Given the description of an element on the screen output the (x, y) to click on. 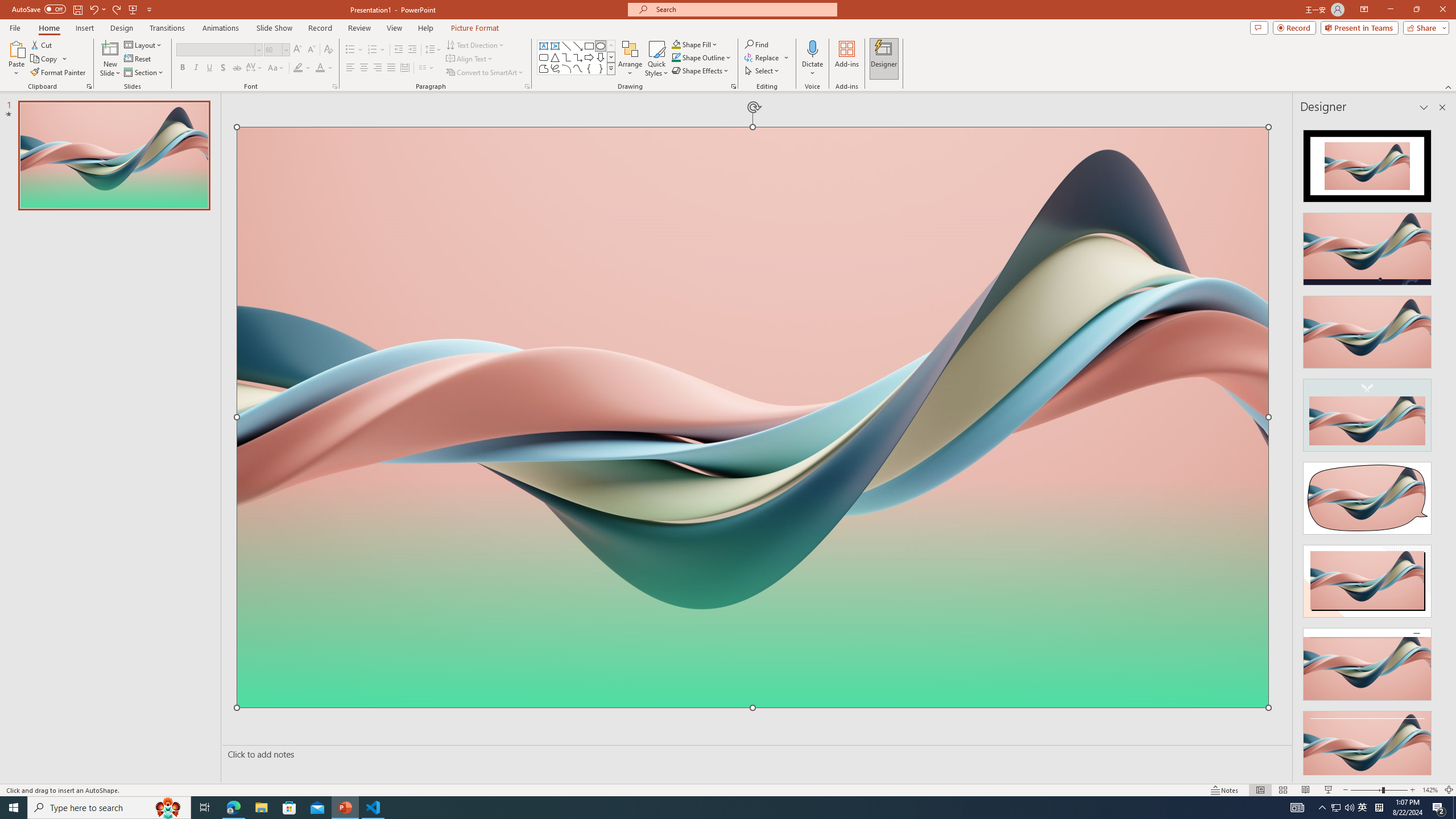
Design Idea (1366, 743)
Zoom 142% (1430, 790)
